Given the description of an element on the screen output the (x, y) to click on. 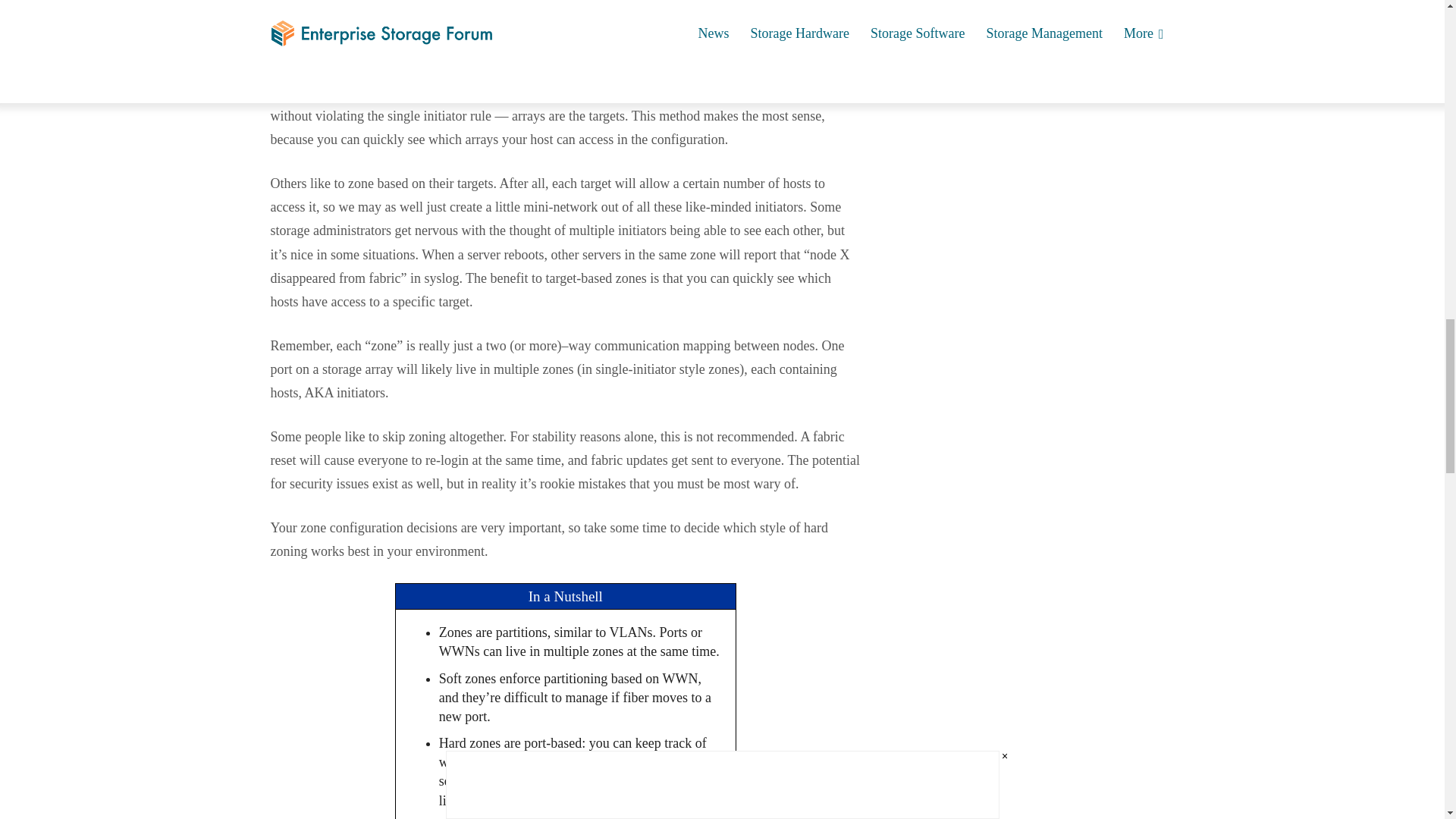
HBAs (286, 4)
